Given the description of an element on the screen output the (x, y) to click on. 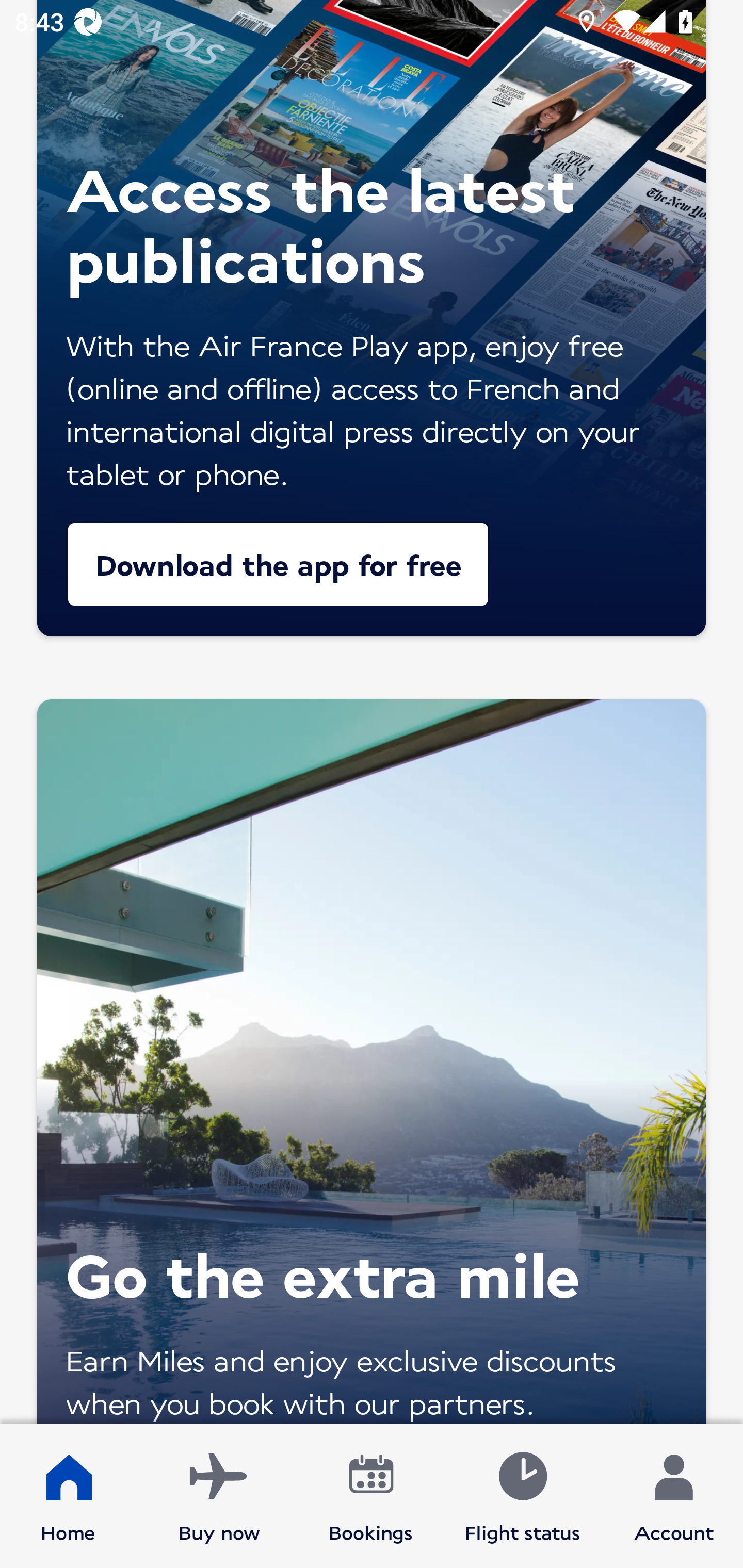
Buy now (219, 1495)
Bookings (370, 1495)
Flight status (522, 1495)
Account (674, 1495)
